Given the description of an element on the screen output the (x, y) to click on. 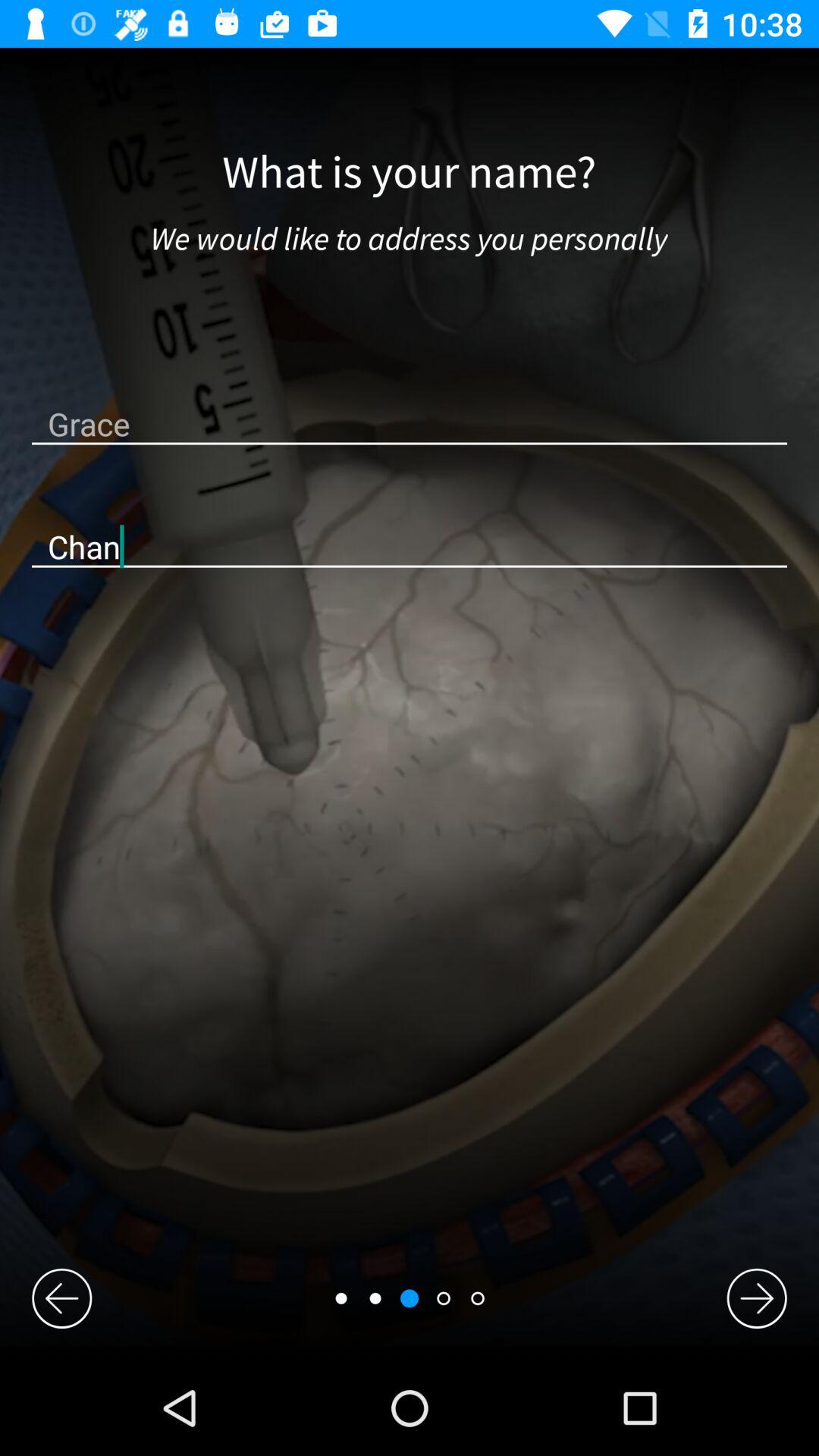
tap icon above we would like item (409, 173)
